Given the description of an element on the screen output the (x, y) to click on. 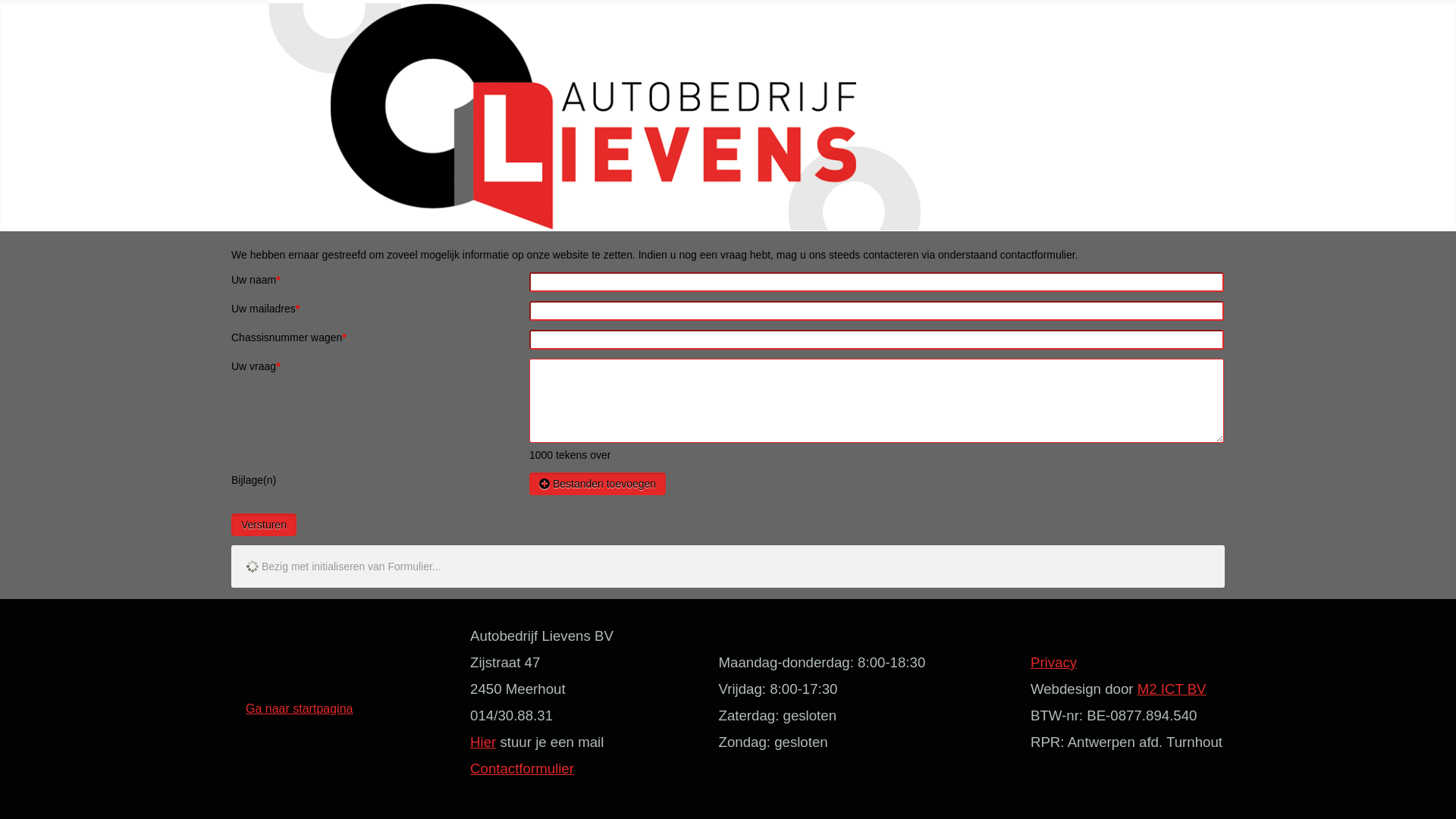
Versturen Element type: text (263, 524)
Privacy Element type: text (1053, 662)
M2 ICT BV Element type: text (1171, 689)
Ga naar startpagina Element type: text (298, 708)
Hier Element type: text (482, 741)
Contactformulier Element type: text (522, 768)
